Given the description of an element on the screen output the (x, y) to click on. 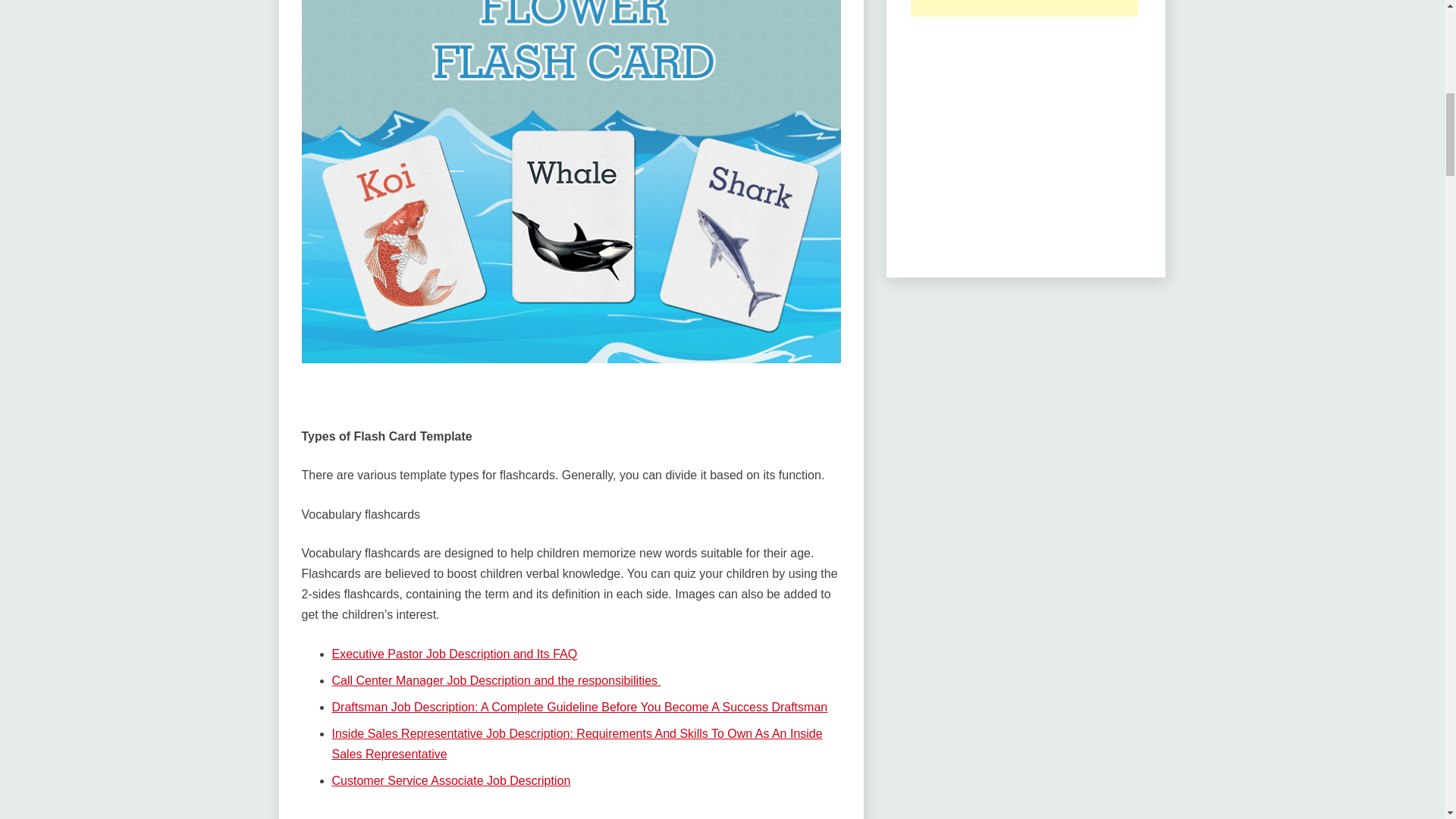
Executive Pastor Job Description and Its FAQ (454, 653)
Customer Service Associate Job Description (450, 780)
